Given the description of an element on the screen output the (x, y) to click on. 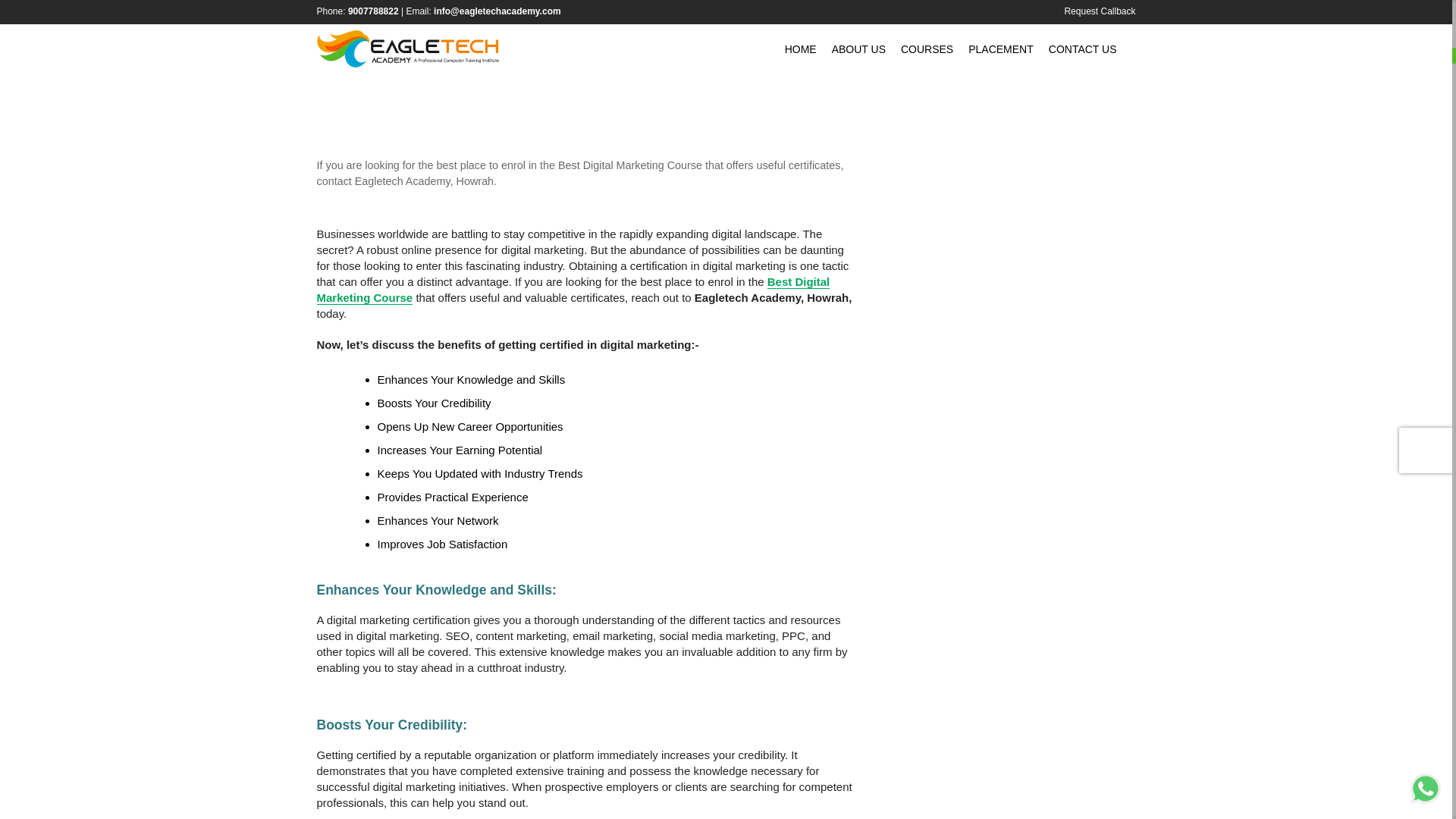
Best Digital Marketing Course (573, 289)
